Given the description of an element on the screen output the (x, y) to click on. 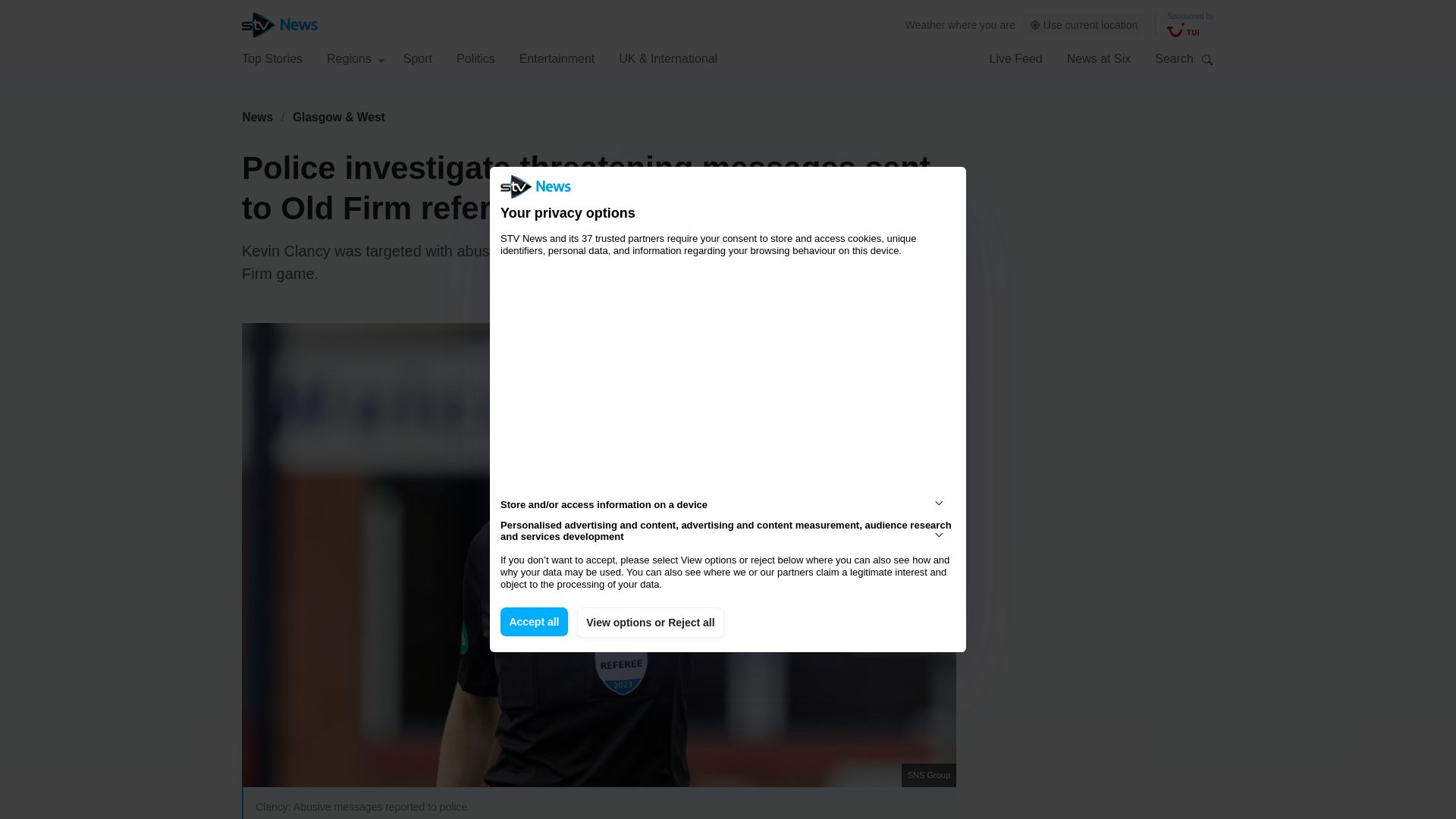
News at Six (1099, 57)
Top Stories (271, 57)
Live Feed (1015, 57)
Regions (355, 57)
Entertainment (557, 57)
News (257, 116)
Use current location (1083, 25)
Search (1206, 59)
Politics (476, 57)
